Given the description of an element on the screen output the (x, y) to click on. 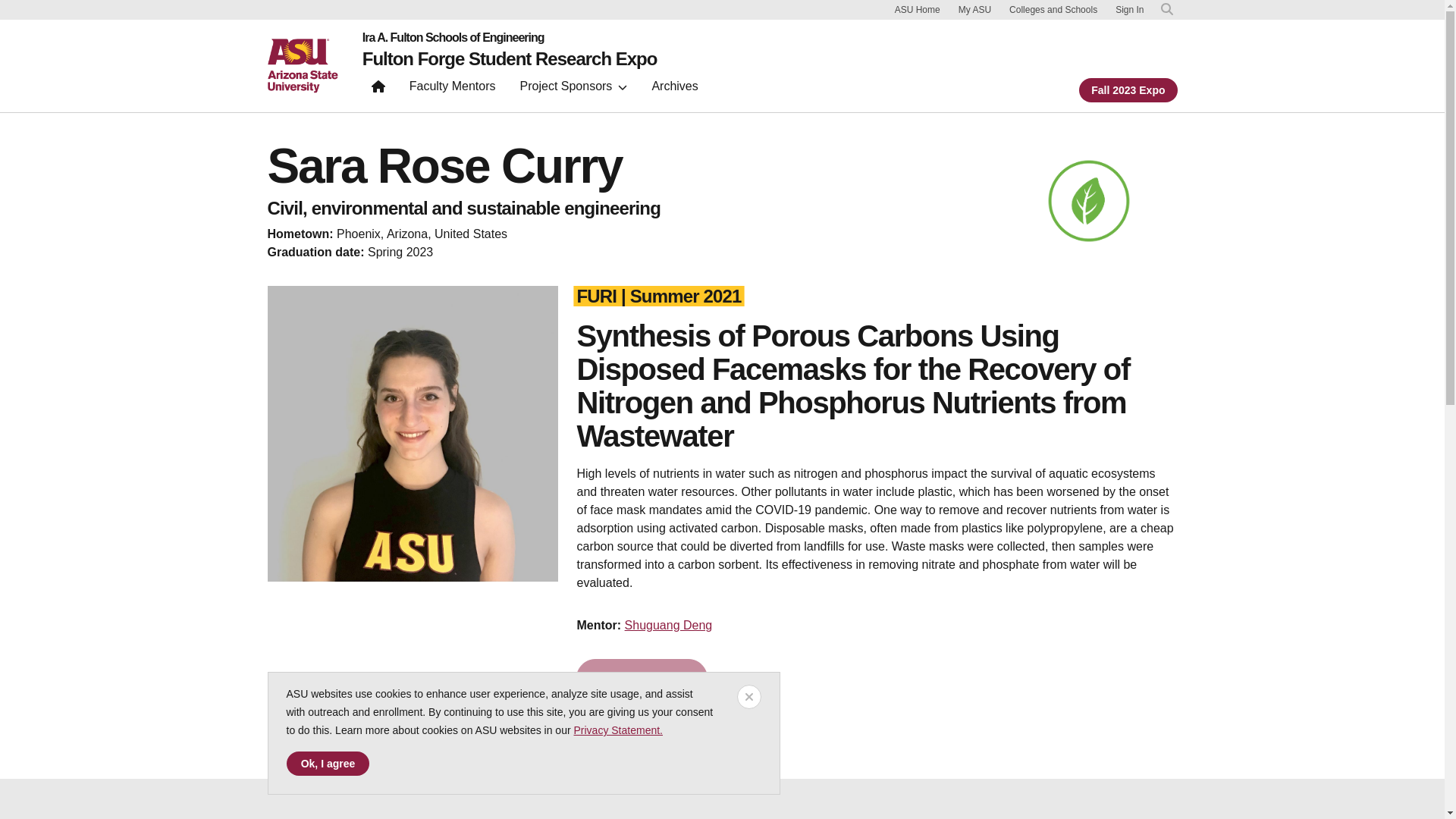
Archives (674, 89)
Shuguang Deng (668, 625)
Archives (674, 89)
Ira A. Fulton Schools of Engineering (510, 37)
Fulton Forge Student Research Expo home page (510, 58)
Fulton Forge Student Research Expo (510, 58)
Sign In (1128, 9)
View QR code (641, 677)
My ASU (974, 9)
Project Sponsors (574, 89)
ASU Home (917, 9)
Faculty Mentors (452, 89)
Ira A. Fulton Schools of Engineering home page (510, 37)
Fulton Forge Student Research Expo home page (378, 89)
